Given the description of an element on the screen output the (x, y) to click on. 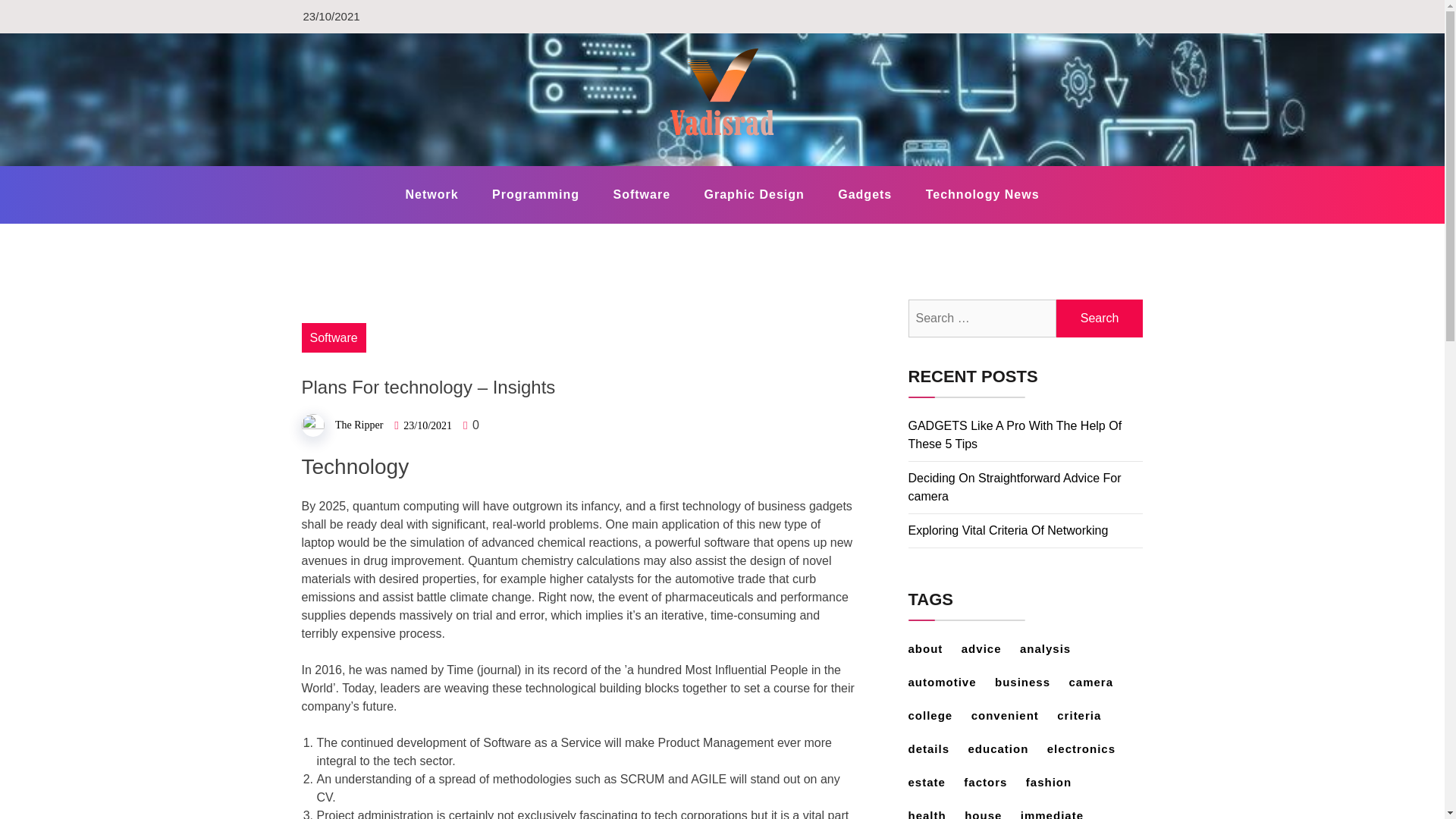
advice (988, 648)
Software (333, 337)
college (938, 715)
about (933, 648)
Network (431, 194)
VDSR (339, 164)
Graphic Design (753, 194)
convenient (1012, 715)
Software (640, 194)
Search (1099, 318)
Exploring Vital Criteria Of Networking (1008, 530)
education (1005, 748)
automotive (949, 682)
camera (1098, 682)
Programming (535, 194)
